Given the description of an element on the screen output the (x, y) to click on. 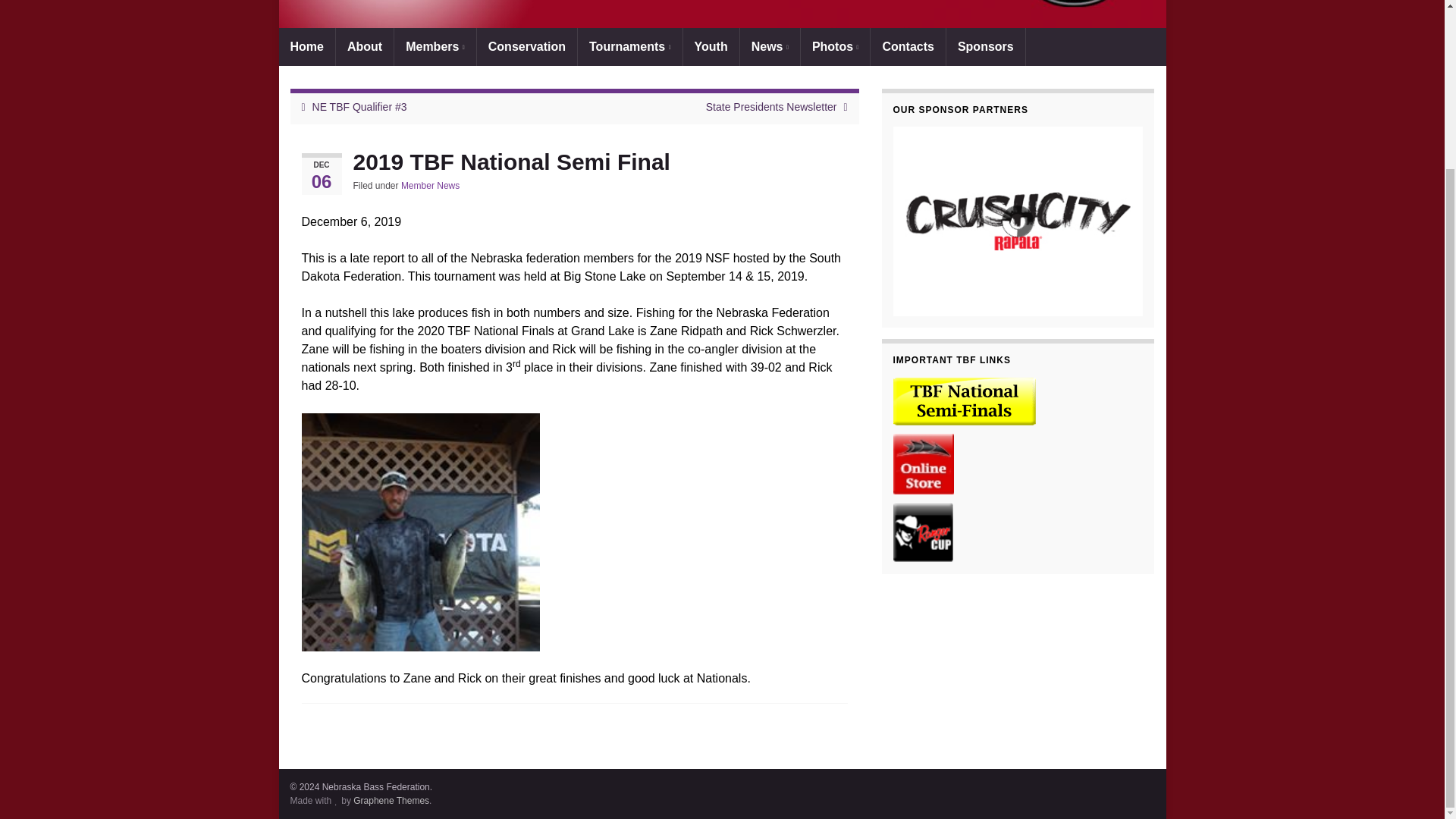
Contacts (907, 46)
Youth (710, 46)
Home (306, 46)
Photos (835, 46)
Graphene Themes (391, 800)
About (364, 46)
News (769, 46)
Conservation (526, 46)
Tournaments (630, 46)
Sponsors (985, 46)
State Presidents Newsletter (771, 106)
Member News (430, 185)
Members (435, 46)
cropped-NE-header21.jpg (722, 13)
